Given the description of an element on the screen output the (x, y) to click on. 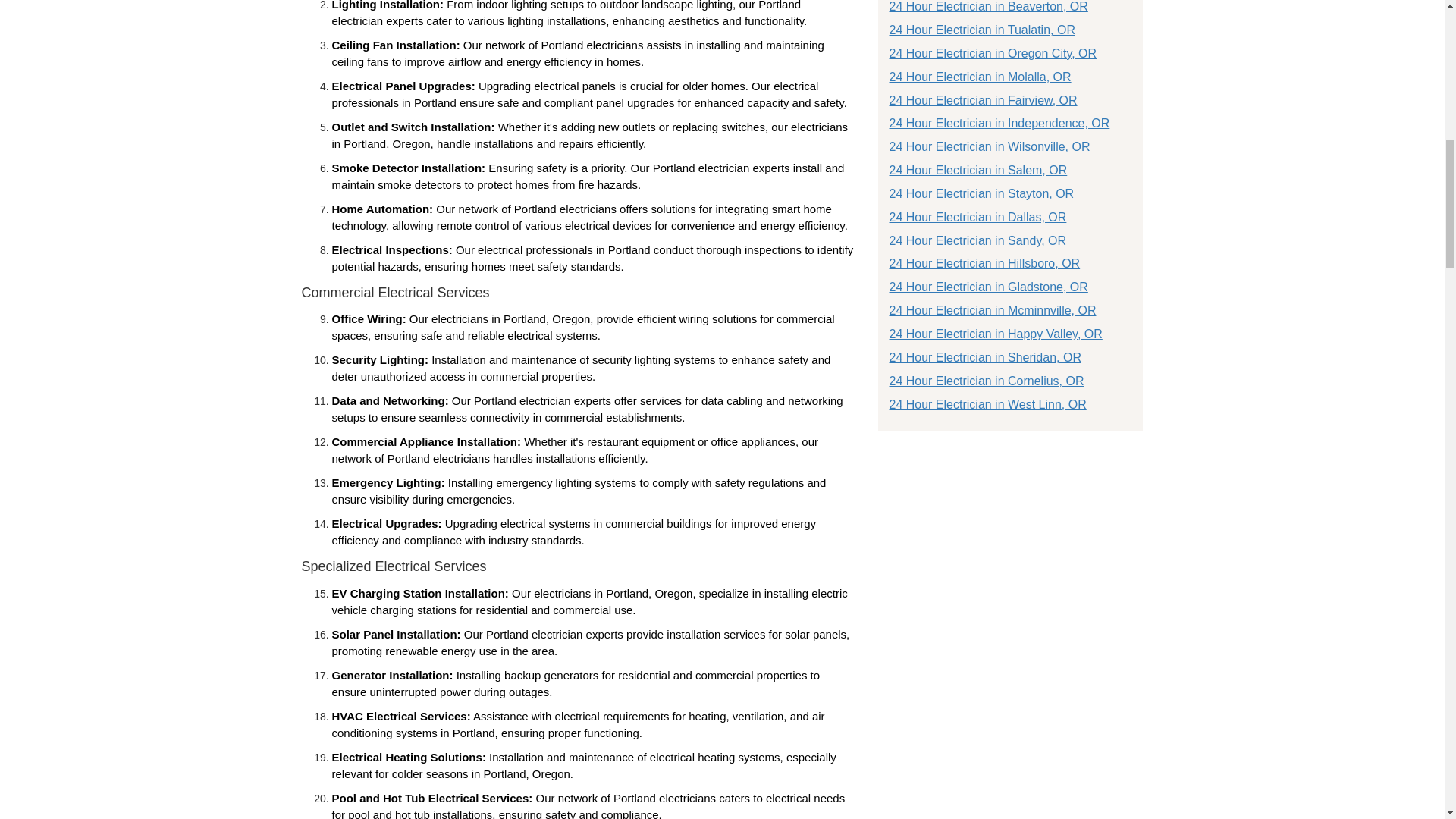
24 Hour Electrician in Sheridan, OR (984, 357)
24 Hour Emergency Electrician in Stayton, OR (981, 193)
24 Hour Electrician in Oregon City, OR (992, 52)
24 Hour Emergency Electrician in Gladstone, OR (987, 286)
24 Hour Emergency Electrician in Wilsonville, OR (988, 146)
24 Hour Emergency Electrician in Mcminnville, OR (992, 309)
24 Hour Electrician in Sandy, OR (976, 240)
24 Hour Electrician in Mcminnville, OR (992, 309)
24 Hour Electrician in Gladstone, OR (987, 286)
24 Hour Emergency Electrician in Fairview, OR (982, 100)
